Given the description of an element on the screen output the (x, y) to click on. 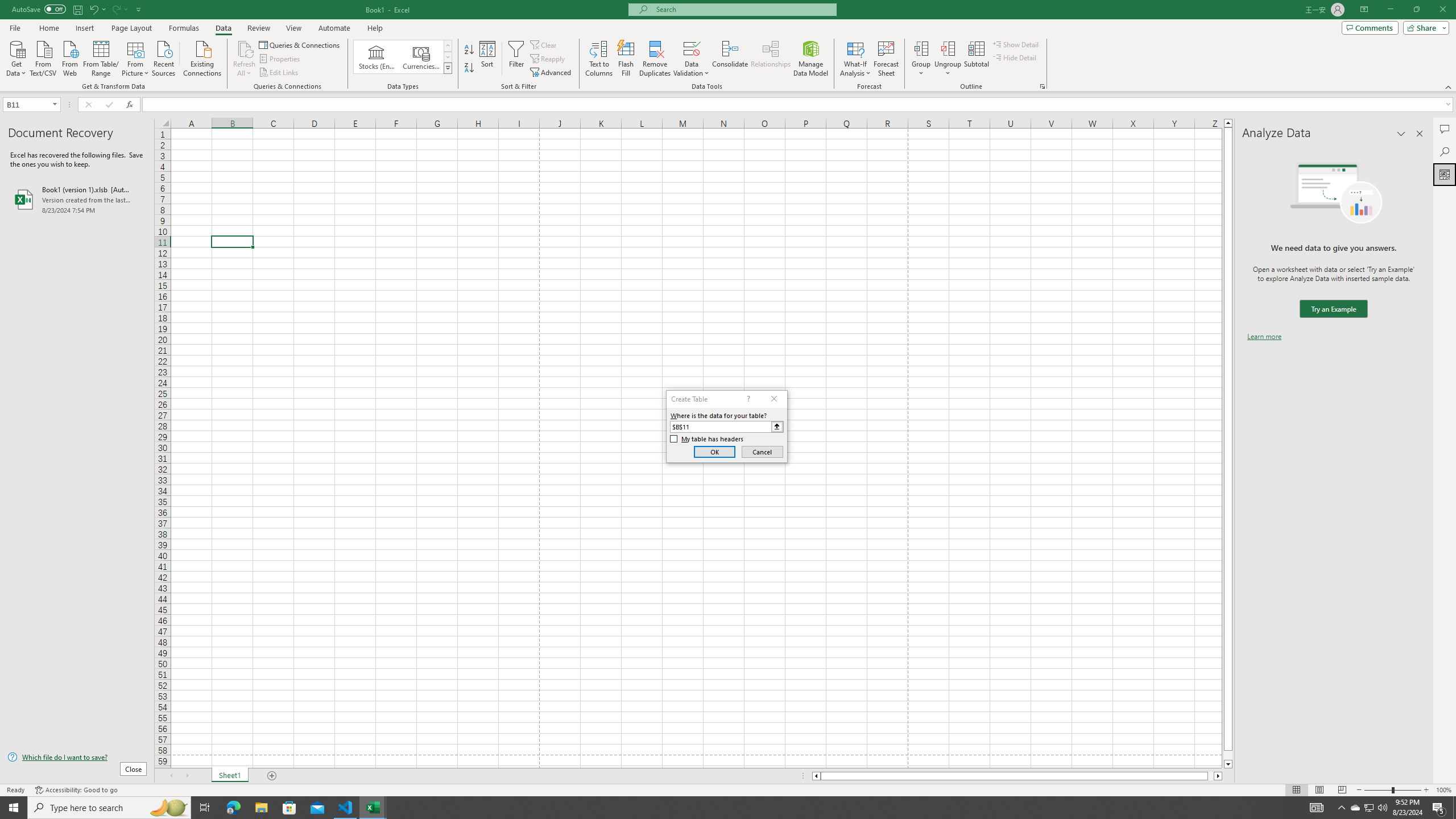
Column left (815, 775)
Zoom Out (1377, 790)
Redo (119, 9)
Save (77, 9)
More Options (947, 68)
Share (1423, 27)
Refresh All (244, 58)
Zoom In (1426, 790)
Queries & Connections (300, 44)
Task Pane Options (1400, 133)
Page Break Preview (1342, 790)
Remove Duplicates (654, 58)
Row Down (448, 56)
Manage Data Model (810, 58)
